Given the description of an element on the screen output the (x, y) to click on. 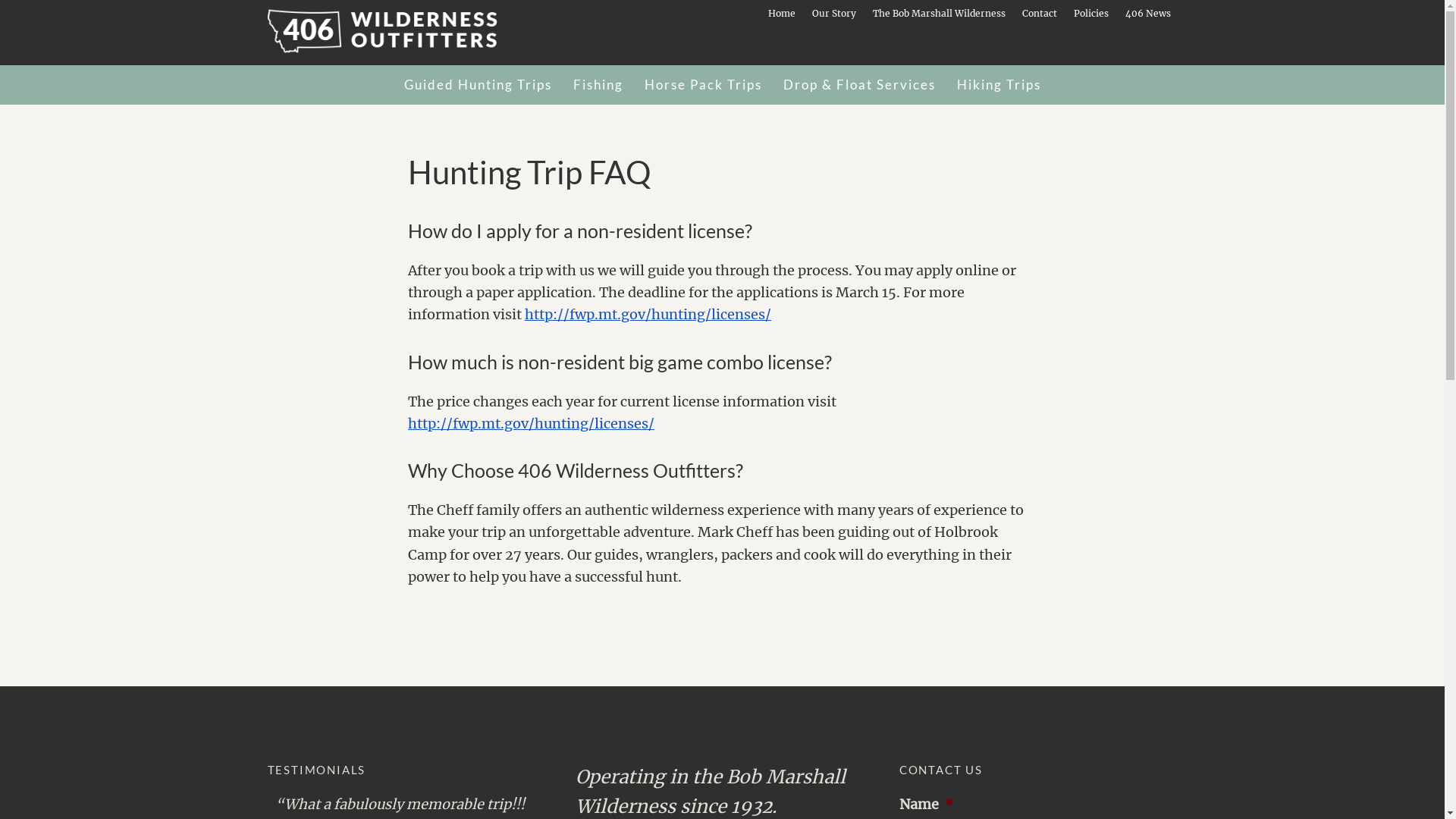
http://fwp.mt.gov/hunting/licenses/ Element type: text (647, 314)
Our Story Element type: text (833, 13)
Contact Element type: text (1039, 13)
Hiking Trips Element type: text (998, 84)
Guided Hunting Trips Element type: text (477, 84)
http://fwp.mt.gov/hunting/licenses/ Element type: text (530, 423)
406 Wilderness Outfitters Element type: text (399, 30)
The Bob Marshall Wilderness Element type: text (938, 13)
Horse Pack Trips Element type: text (703, 84)
Policies Element type: text (1090, 13)
Drop & Float Services Element type: text (858, 84)
Home Element type: text (780, 13)
Fishing Element type: text (598, 84)
406 News Element type: text (1147, 13)
Skip to primary navigation Element type: text (0, 0)
